Given the description of an element on the screen output the (x, y) to click on. 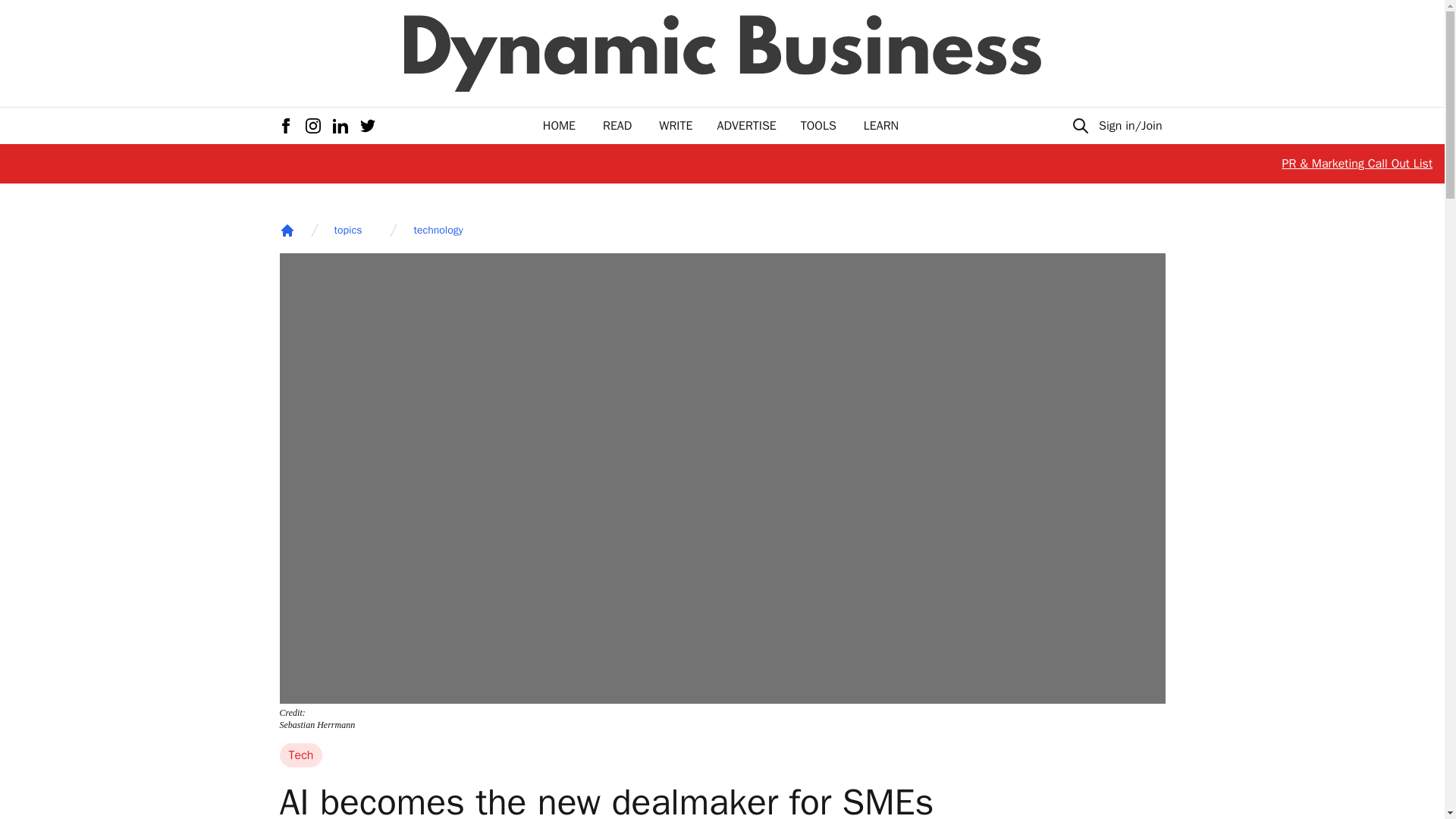
TOOLS (817, 126)
Tech (300, 754)
LEARN (880, 126)
WRITE (676, 126)
Home (286, 230)
HOME (559, 126)
READ (616, 126)
technology (438, 230)
ADVERTISE (746, 126)
topics (347, 230)
